Given the description of an element on the screen output the (x, y) to click on. 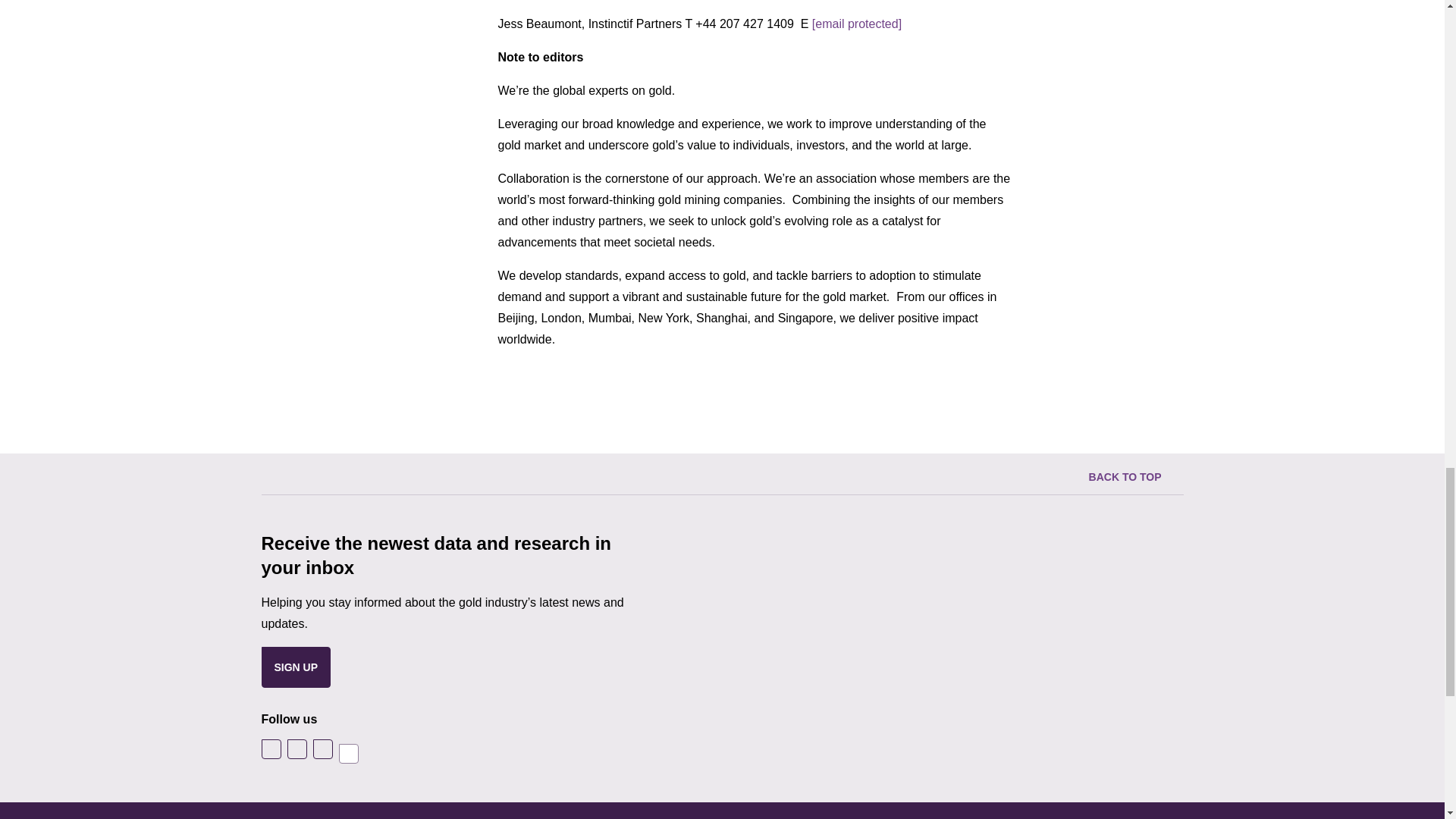
Follow us on LinkedIn (322, 749)
Follow us on X (270, 749)
Follow us on WeChat (347, 753)
Follow us on Facebook (295, 749)
